Given the description of an element on the screen output the (x, y) to click on. 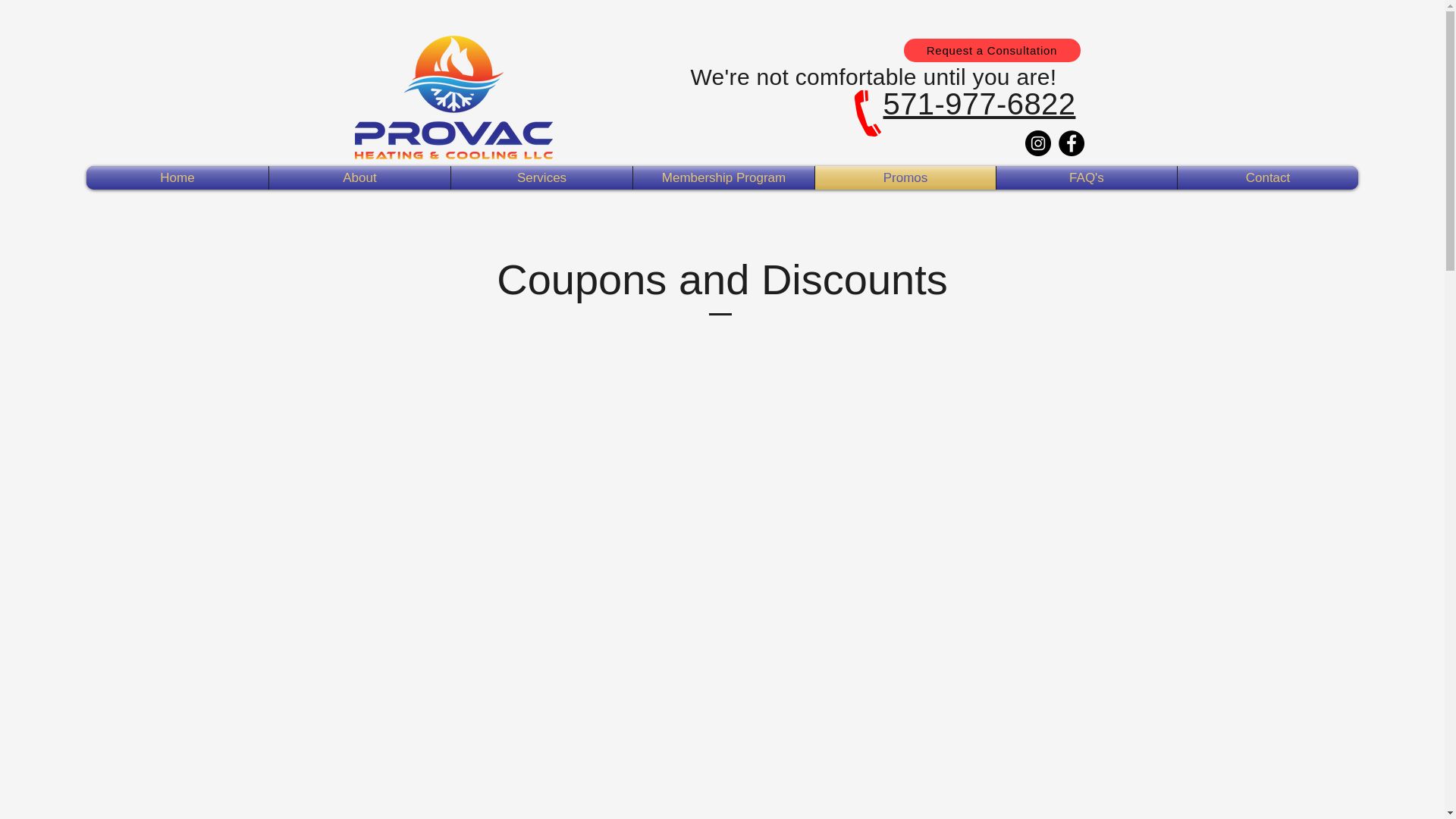
FAQ's (1085, 177)
Contact (1267, 177)
About (359, 177)
Request a Consultation (992, 50)
Services (541, 177)
571-977-6822 (978, 103)
Membership Program (723, 177)
Promos (905, 177)
Home (176, 177)
